Given the description of an element on the screen output the (x, y) to click on. 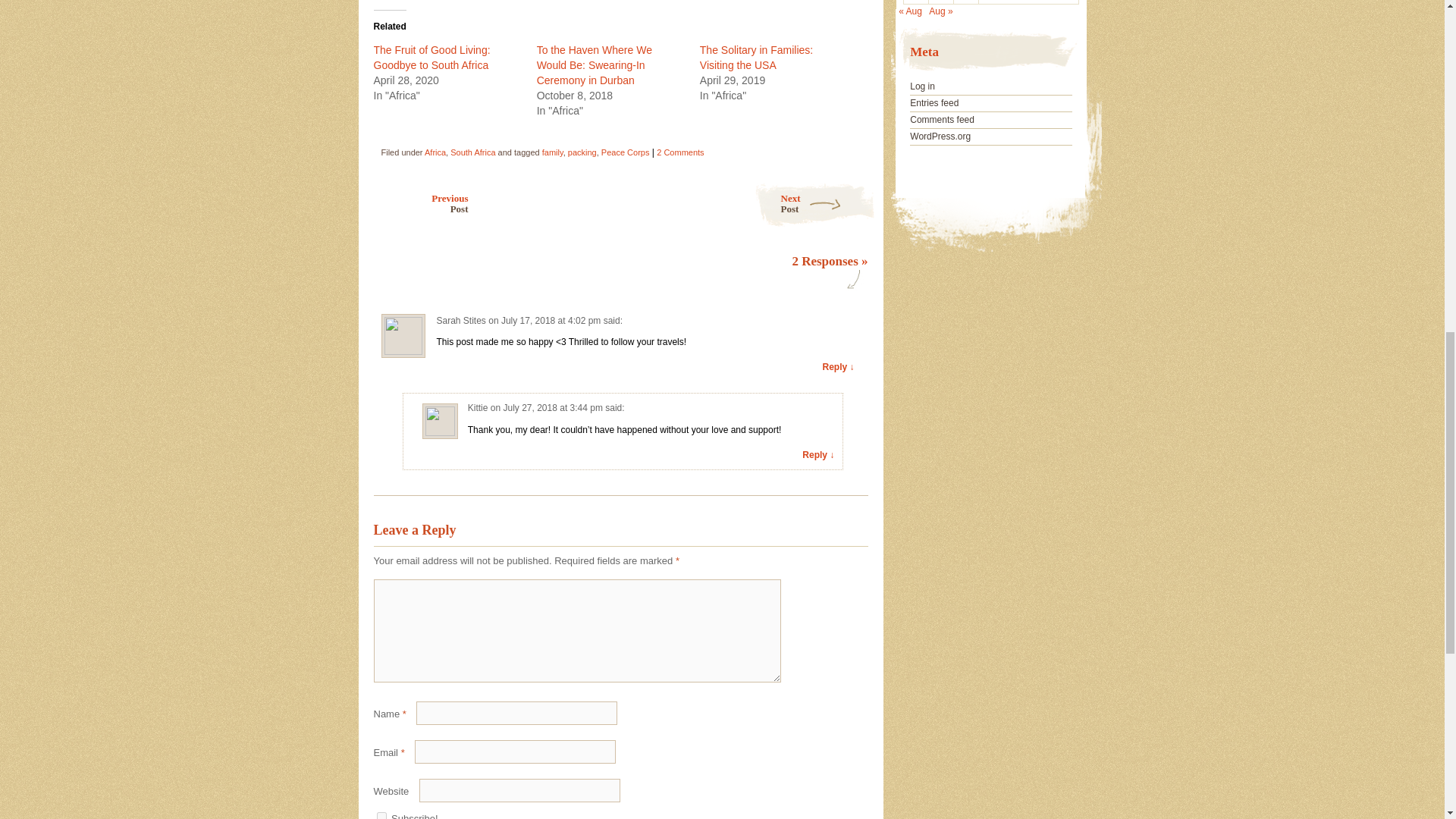
family (552, 152)
The Fruit of Good Living: Goodbye to South Africa (430, 57)
Africa (435, 152)
The Fruit of Good Living: Goodbye to South Africa (430, 57)
Peace Corps (625, 152)
The Solitary in Families: Visiting the USA (756, 57)
packing (581, 152)
2 Comments (679, 152)
The Solitary in Families: Visiting the USA (756, 57)
